Given the description of an element on the screen output the (x, y) to click on. 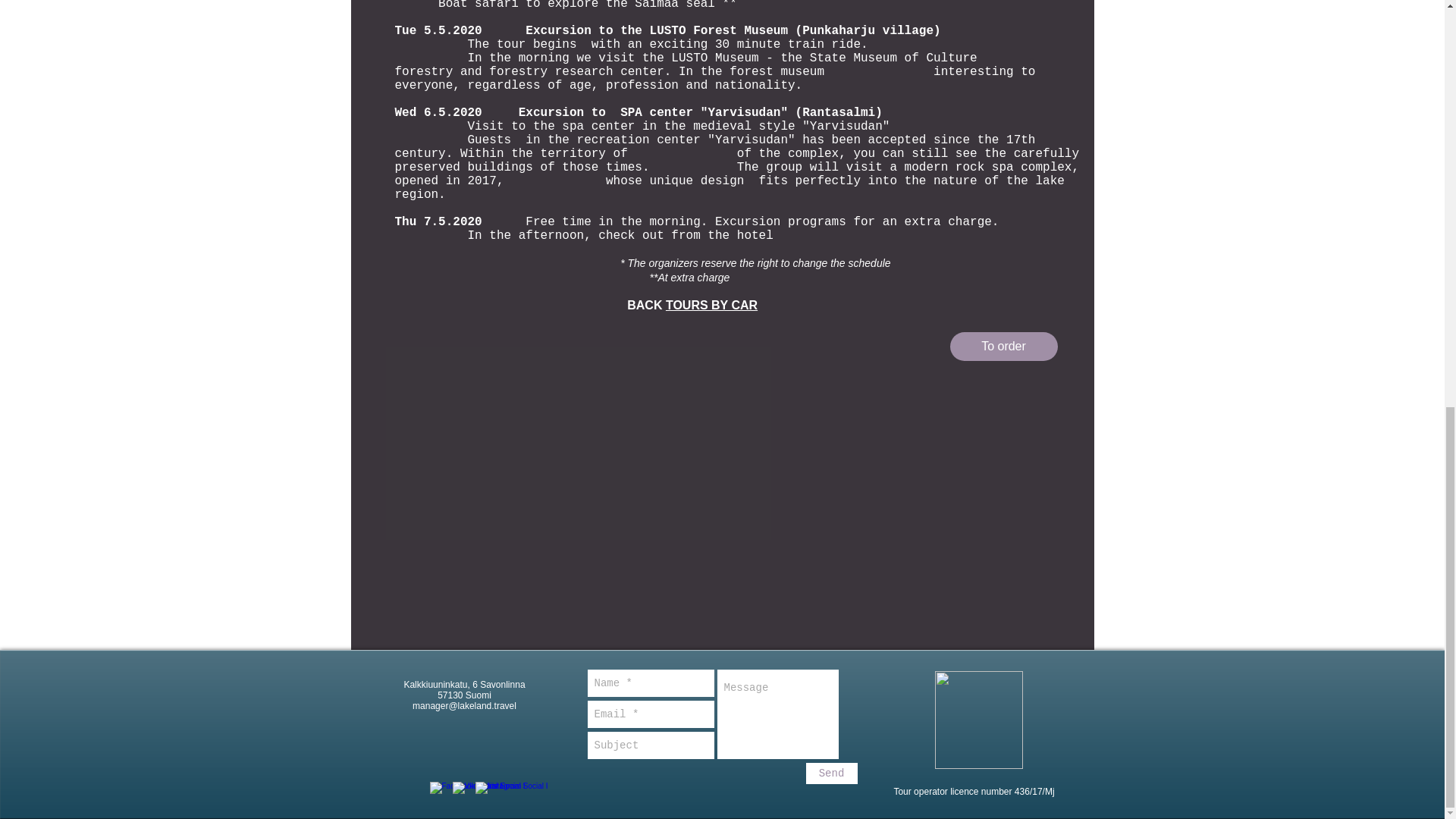
To order (1003, 346)
Send (831, 772)
TOURS BY CAR (711, 305)
